Given the description of an element on the screen output the (x, y) to click on. 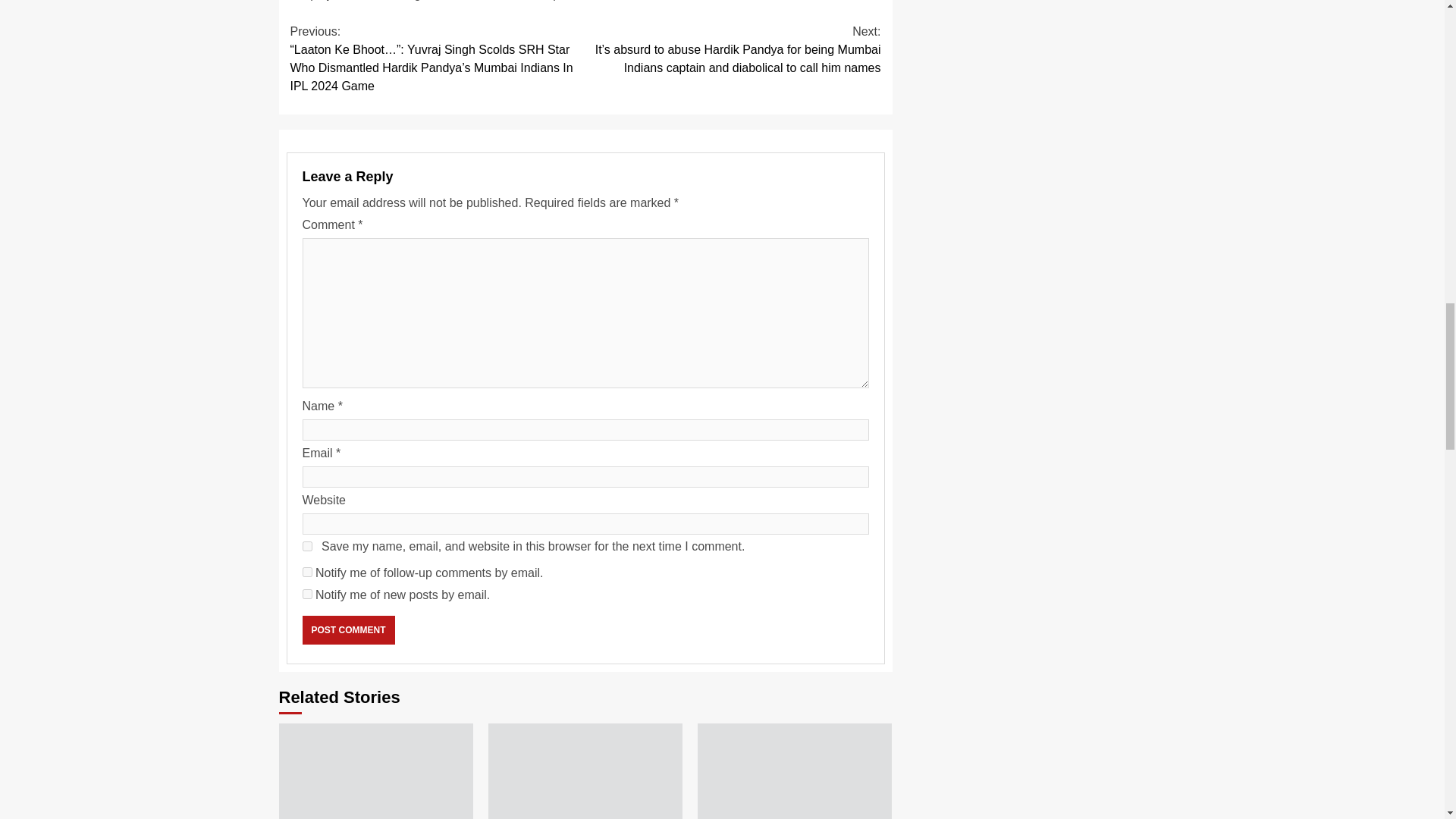
yes (306, 546)
Post Comment (347, 629)
Post Comment (347, 629)
subscribe (306, 572)
subscribe (306, 593)
